Given the description of an element on the screen output the (x, y) to click on. 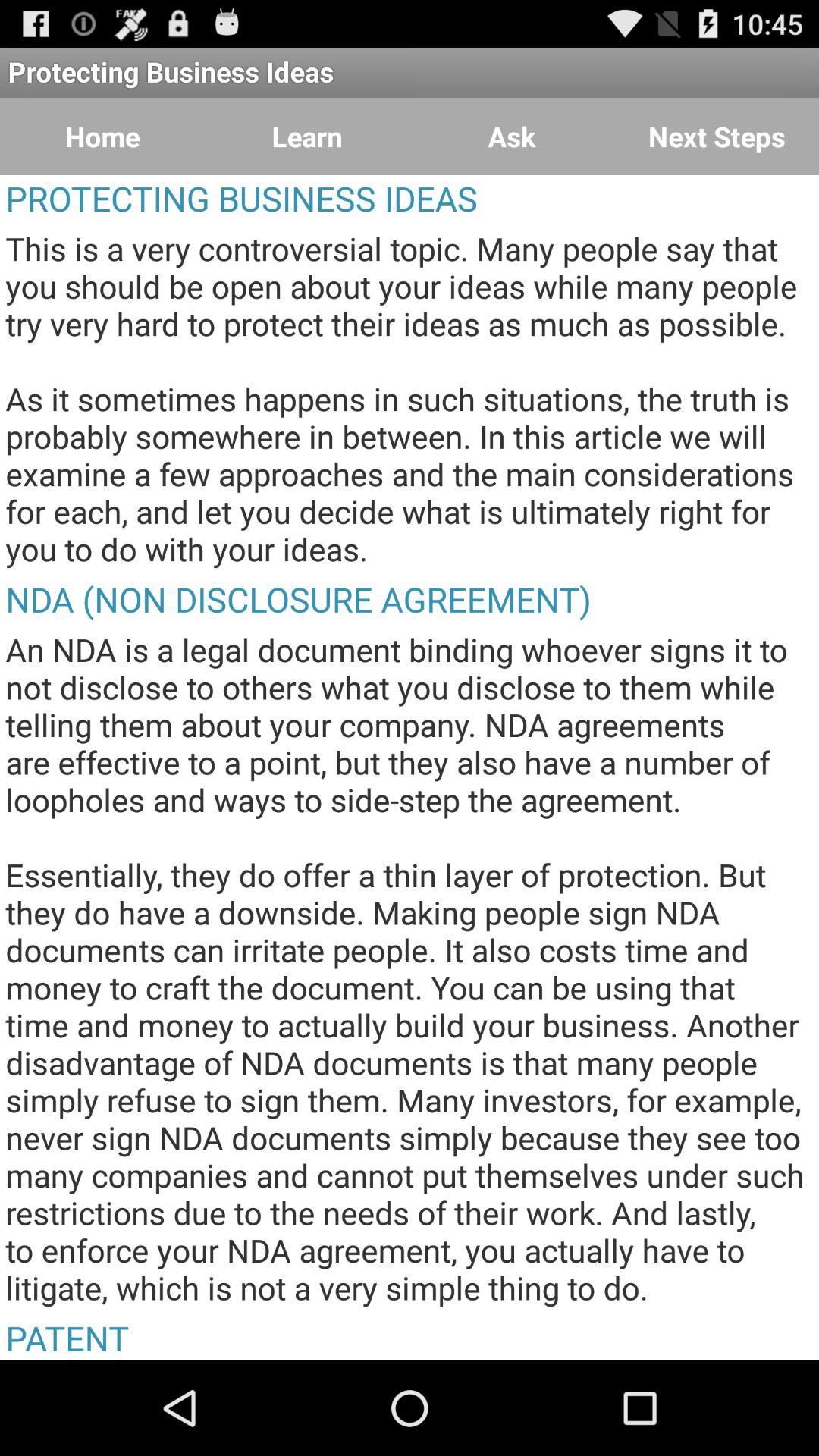
turn on the icon to the right of home icon (306, 136)
